Given the description of an element on the screen output the (x, y) to click on. 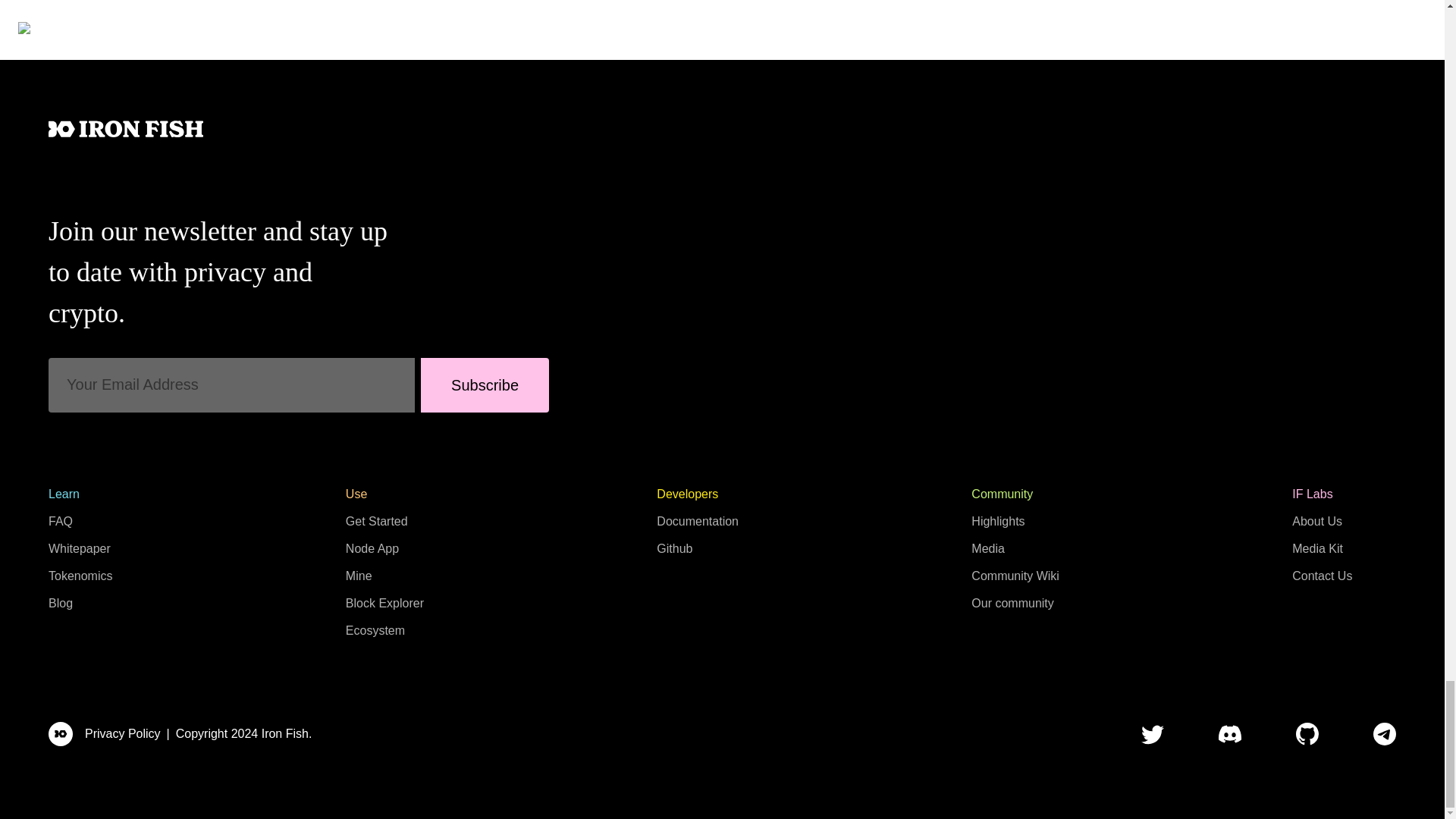
Subscribe (484, 384)
Github (674, 548)
FAQ (60, 521)
Whitepaper (79, 548)
Privacy Policy (122, 733)
Block Explorer (384, 603)
Mine (359, 575)
Node App (372, 548)
Community Wiki (1015, 575)
Contact Us (1322, 575)
